Given the description of an element on the screen output the (x, y) to click on. 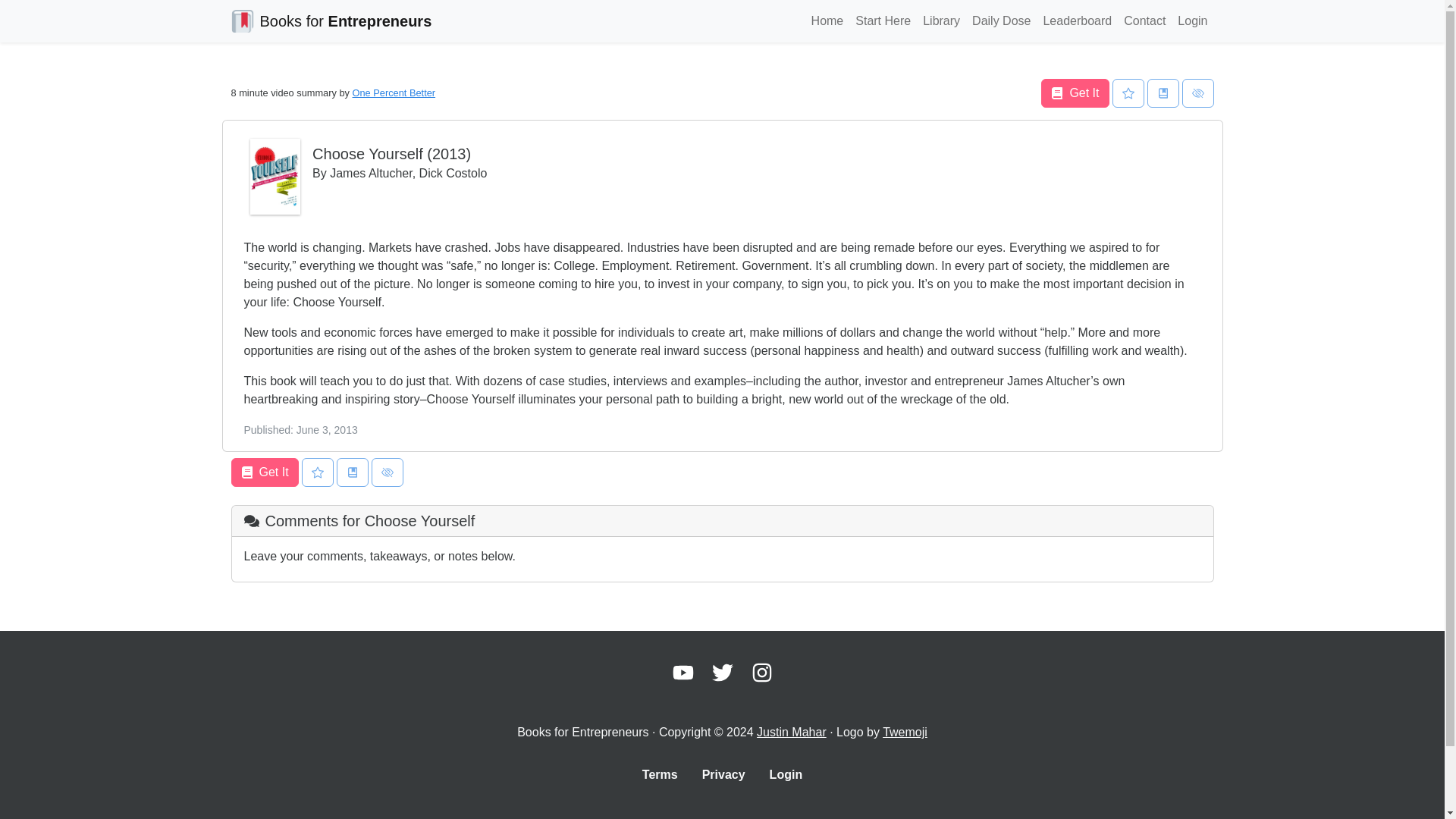
Start Here (882, 20)
Login (1192, 20)
Leaderboard (1077, 20)
Get It (264, 471)
Get It (1074, 92)
Books for Entrepreneurs (330, 20)
Twemoji (904, 731)
Privacy (723, 775)
Home (827, 20)
One Percent Better (393, 92)
